Given the description of an element on the screen output the (x, y) to click on. 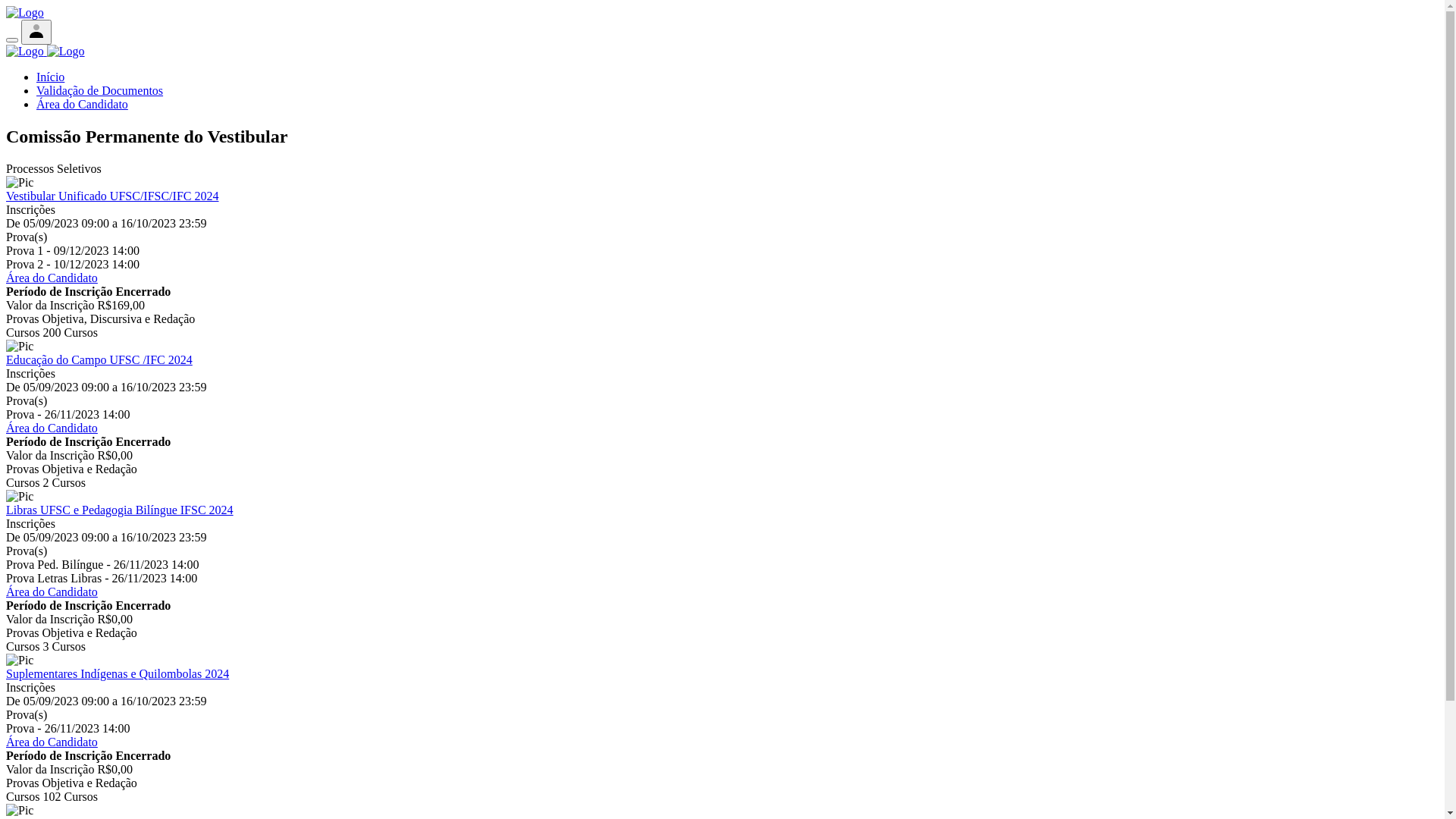
Vestibular Unificado UFSC/IFSC/IFC 2024 Element type: text (112, 195)
